Given the description of an element on the screen output the (x, y) to click on. 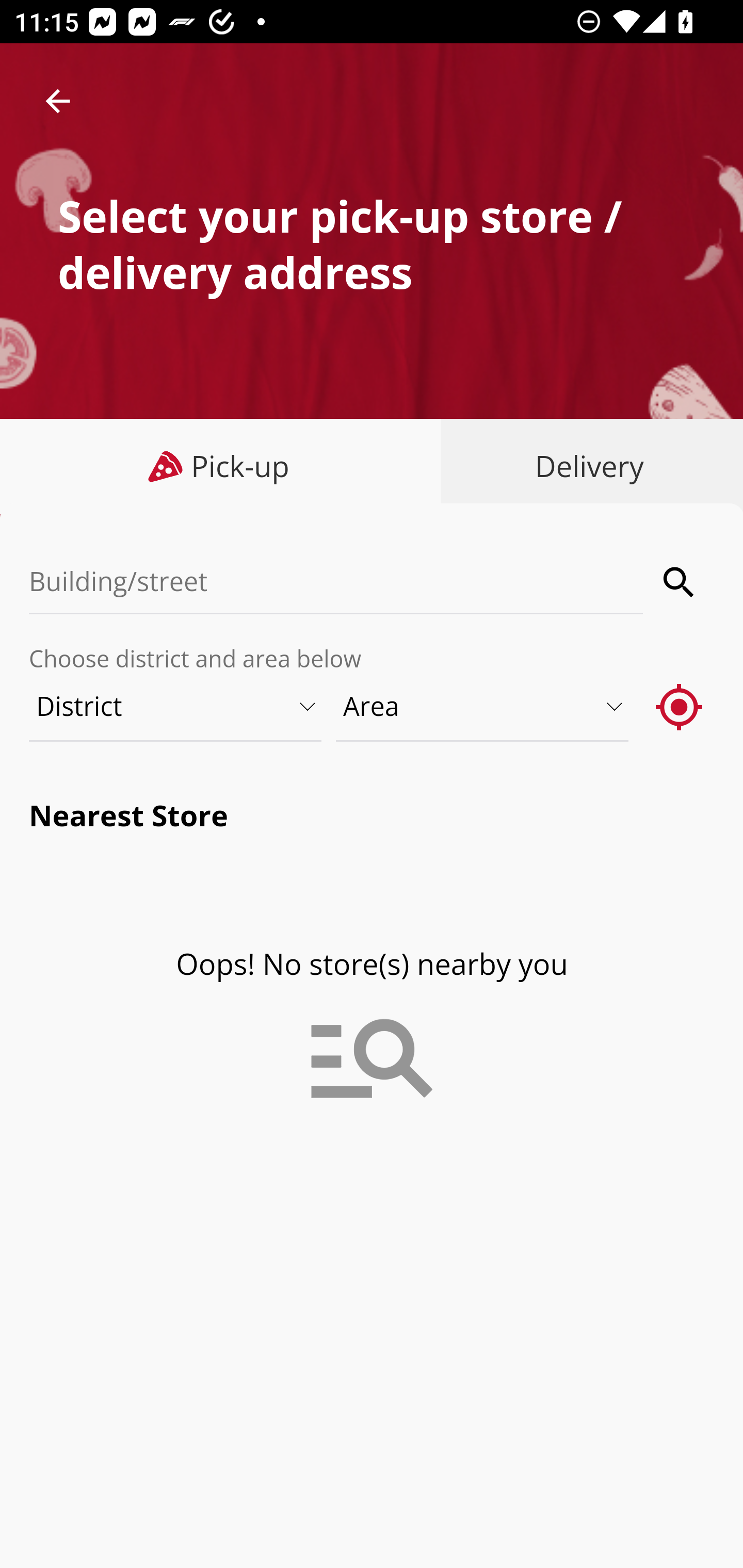
arrow_back (58, 100)
Pick-up (221, 466)
Delivery (585, 466)
search (679, 582)
gps_fixed (679, 706)
District (175, 706)
Area (482, 706)
